Given the description of an element on the screen output the (x, y) to click on. 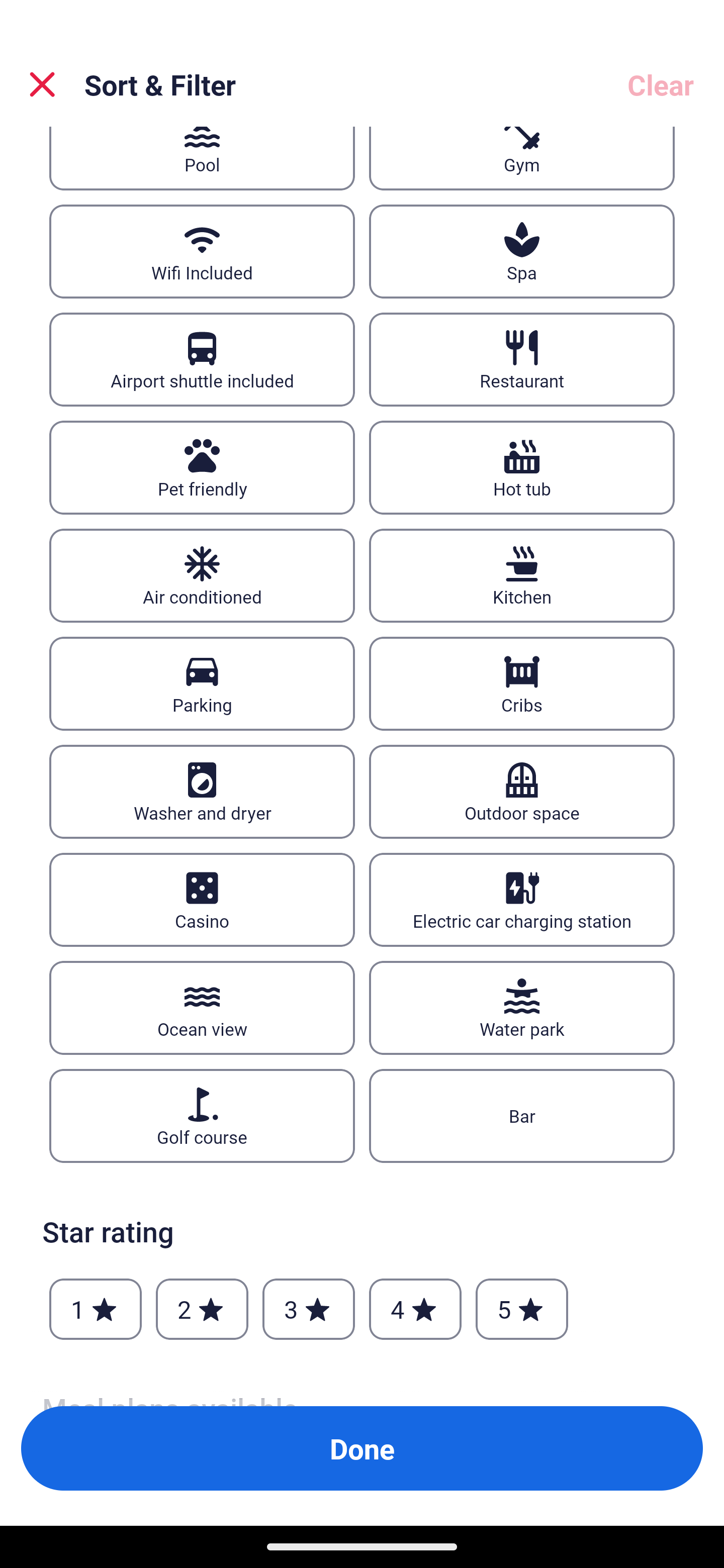
Close Sort and Filter (42, 84)
Clear (660, 84)
Pool (201, 158)
Gym (521, 158)
Wifi Included (201, 250)
Spa (521, 250)
Airport shuttle included (201, 359)
Restaurant (521, 359)
Pet friendly (201, 467)
Hot tub (521, 467)
Air conditioned (201, 575)
Kitchen (521, 575)
Parking (201, 683)
Cribs (521, 683)
Washer and dryer (201, 791)
Outdoor space (521, 791)
Casino (201, 899)
Electric car charging station (521, 899)
Ocean view (201, 1008)
Water park (521, 1008)
Golf course (201, 1116)
Bar (521, 1116)
1 (95, 1308)
2 (201, 1308)
3 (308, 1308)
4 (415, 1308)
5 (521, 1308)
Apply and close Sort and Filter Done (361, 1448)
